Given the description of an element on the screen output the (x, y) to click on. 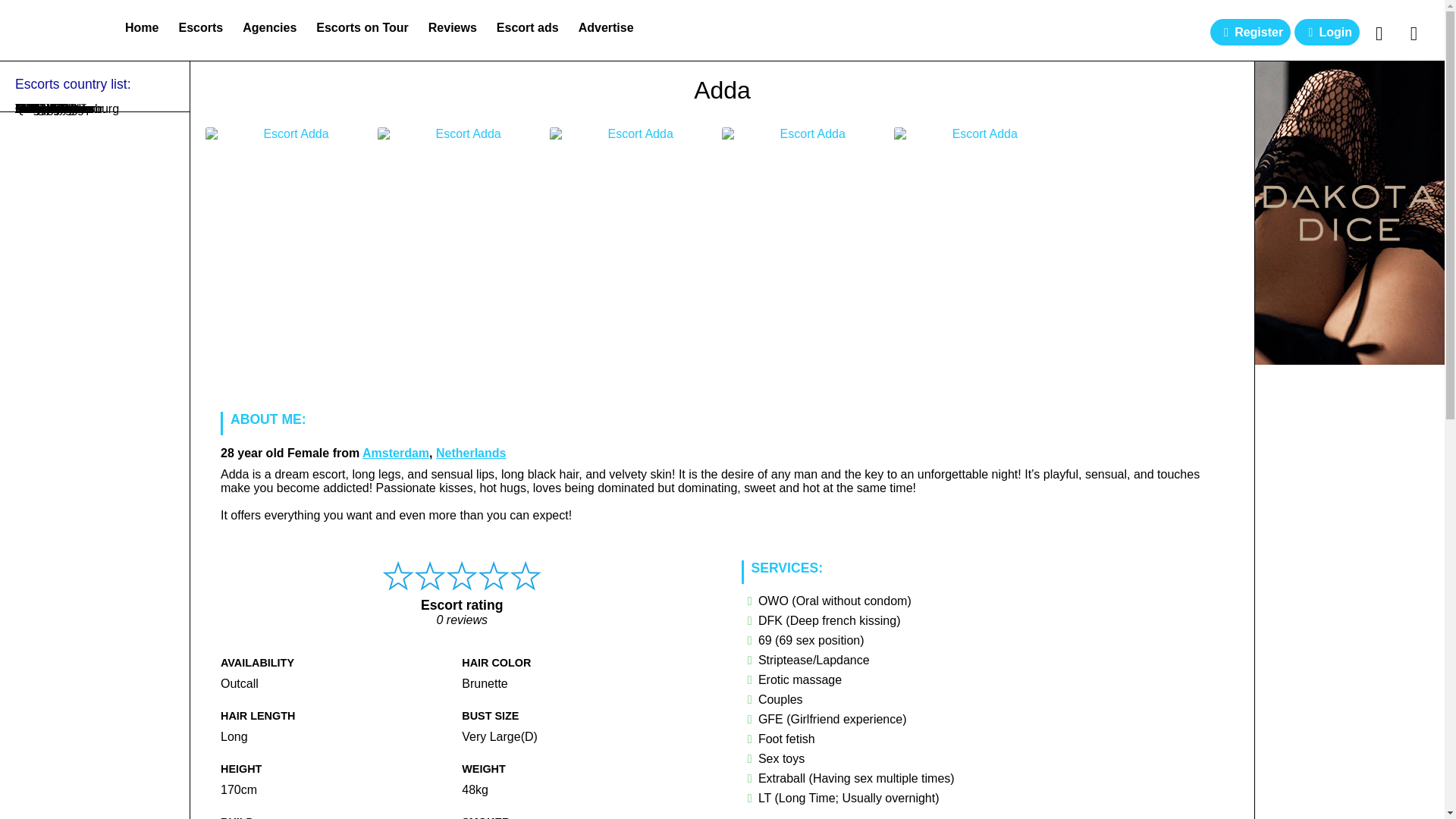
Register (1249, 31)
Netherlands (470, 452)
Escorts on Tour (362, 27)
Contact Us (1413, 33)
Amsterdam (395, 452)
Escorts (200, 27)
Adda (722, 94)
Advertise (606, 27)
Login (1326, 31)
Agencies (268, 27)
